Given the description of an element on the screen output the (x, y) to click on. 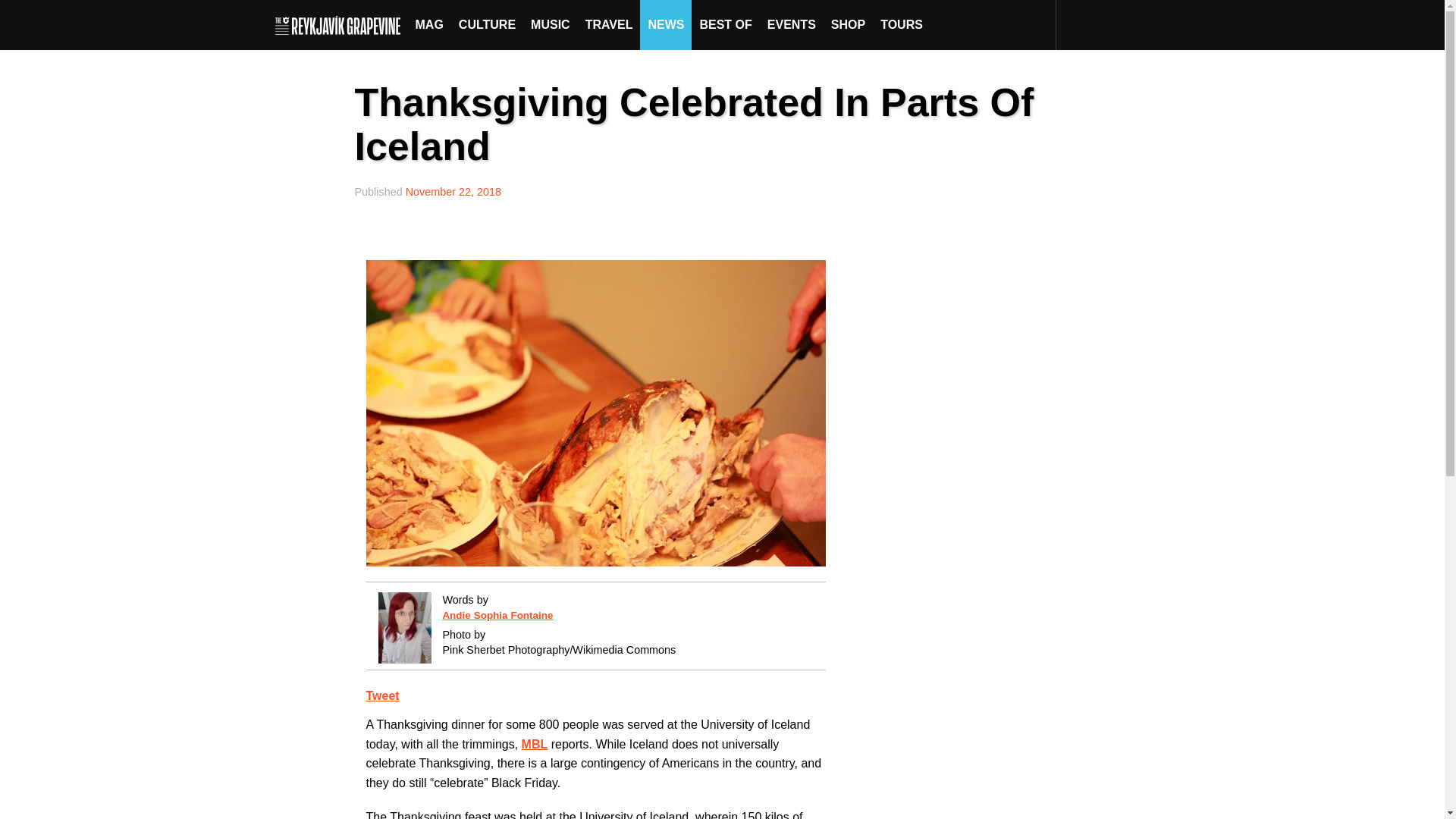
Andie Sophia Fontaine (497, 614)
TOURS (901, 24)
BEST OF (724, 24)
TRAVEL (609, 24)
Tweet (381, 695)
NEWS (665, 24)
MUSIC (550, 24)
MBL (534, 744)
SHOP (848, 24)
CULTURE (486, 24)
Posts by Andie Sophia Fontaine (497, 614)
EVENTS (792, 24)
The Reykjavik Grapevine (341, 24)
